Given the description of an element on the screen output the (x, y) to click on. 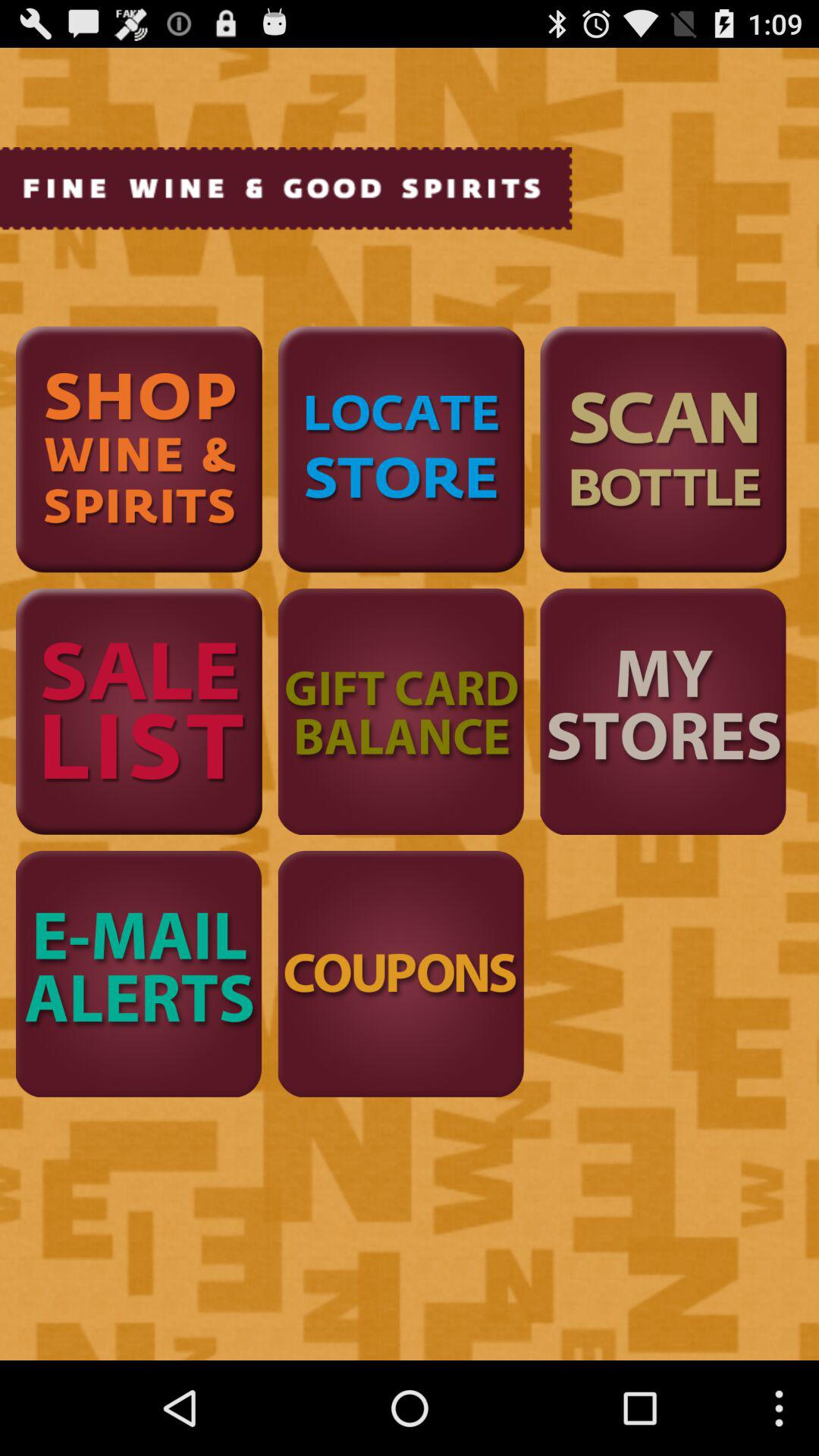
enable e-mail alerts (138, 973)
